Given the description of an element on the screen output the (x, y) to click on. 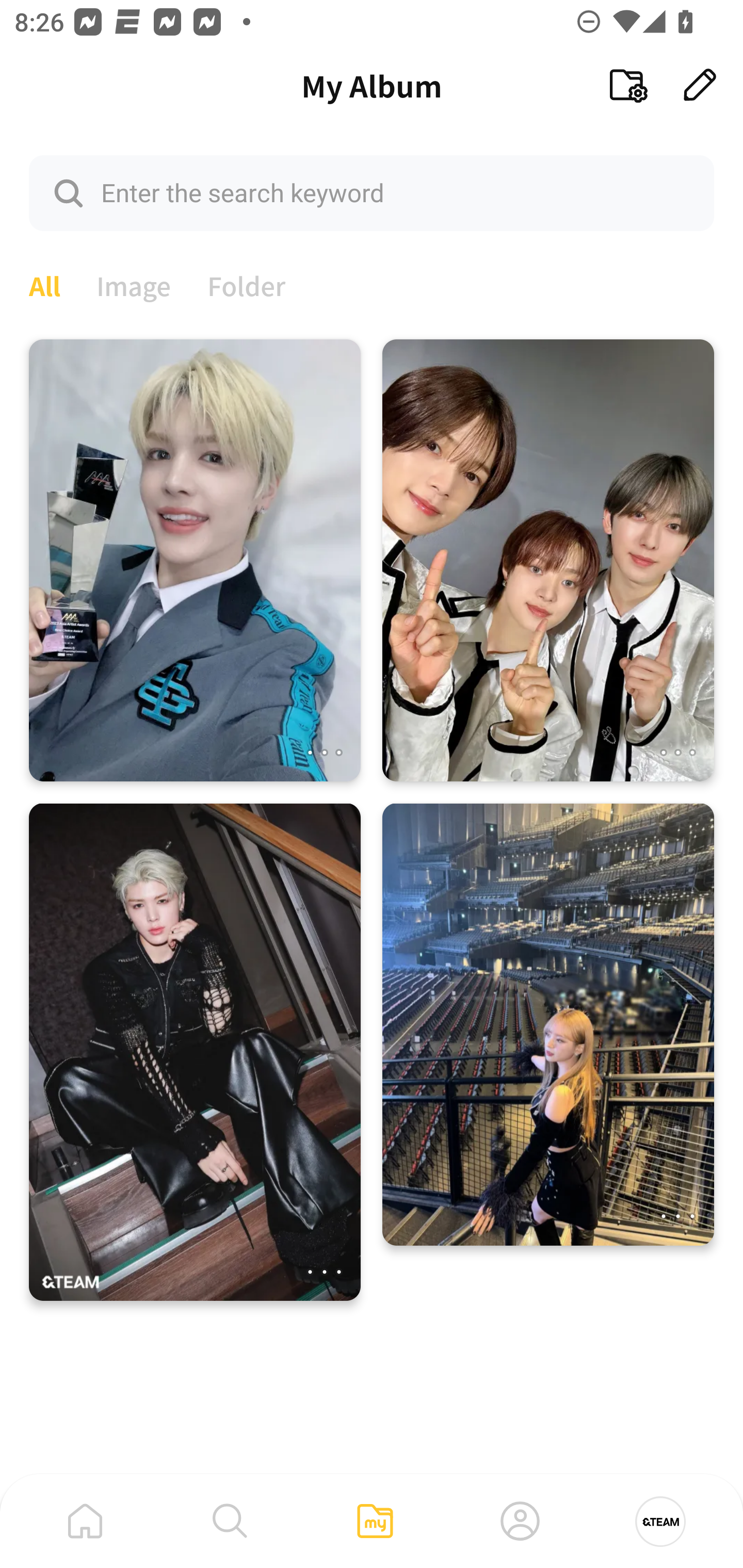
Enter the search keyword (371, 192)
All (44, 284)
Image (133, 284)
Folder (246, 284)
